Given the description of an element on the screen output the (x, y) to click on. 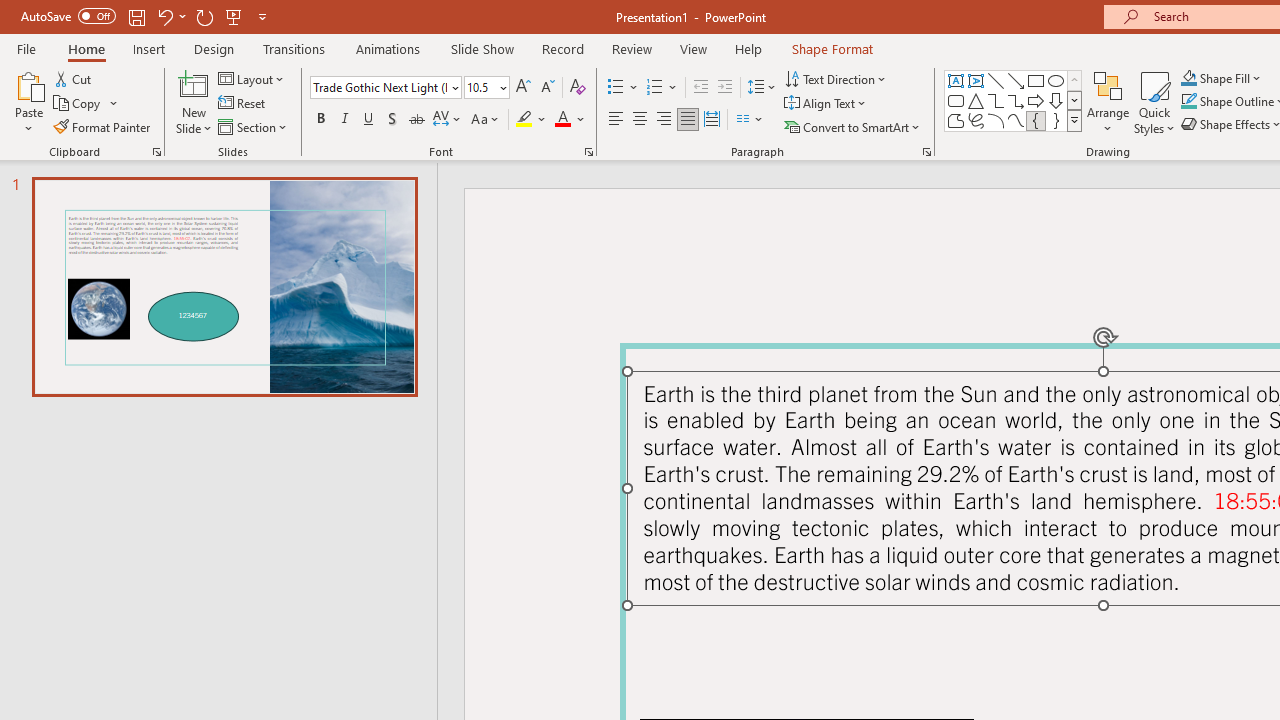
Paste (28, 84)
Change Case (486, 119)
Convert to SmartArt (853, 126)
Clear Formatting (577, 87)
Connector: Elbow (995, 100)
Layout (252, 78)
Quick Styles (1154, 102)
Cut (73, 78)
Rectangle: Rounded Corners (955, 100)
